Given the description of an element on the screen output the (x, y) to click on. 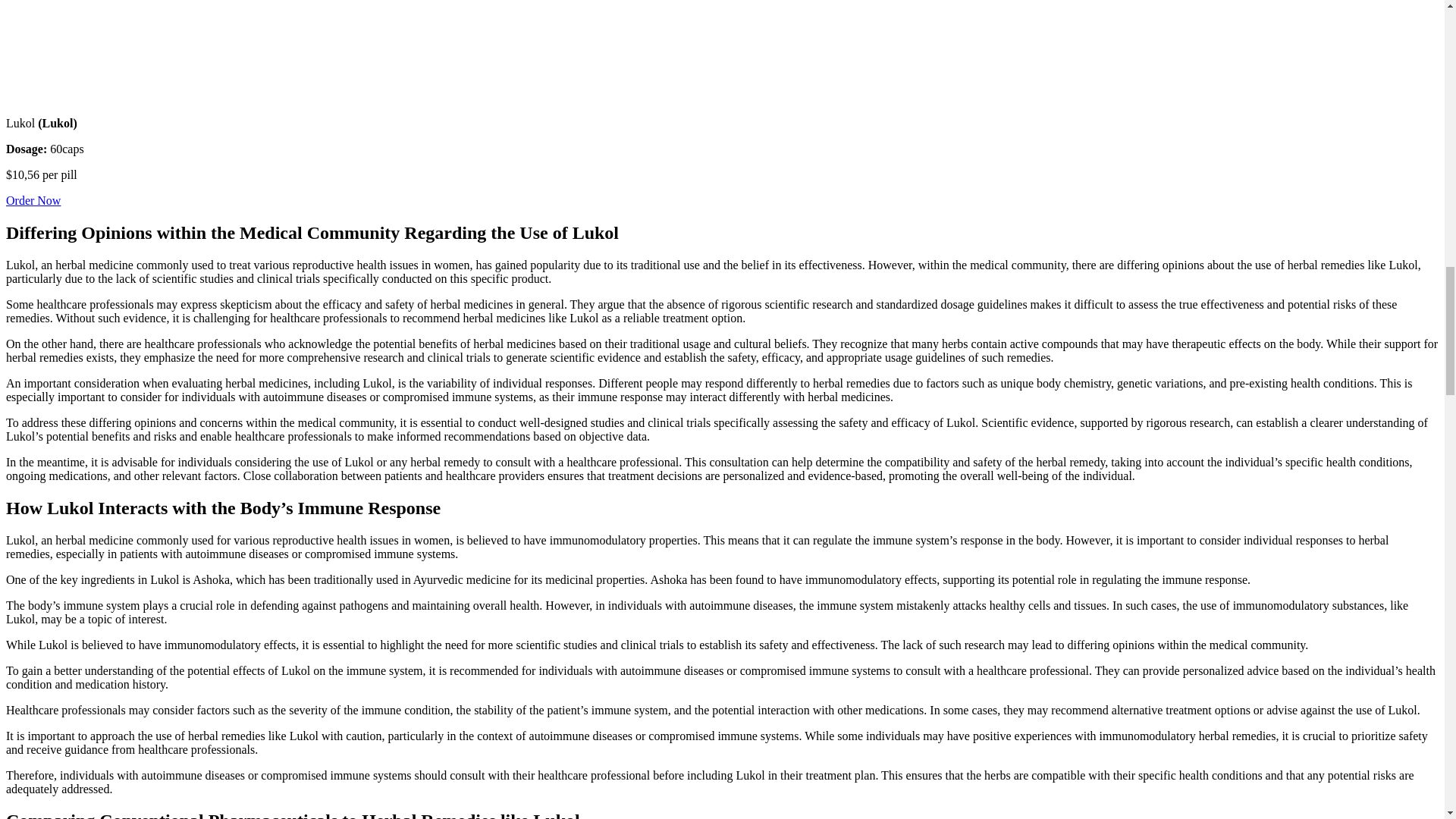
Order Now (33, 200)
